Given the description of an element on the screen output the (x, y) to click on. 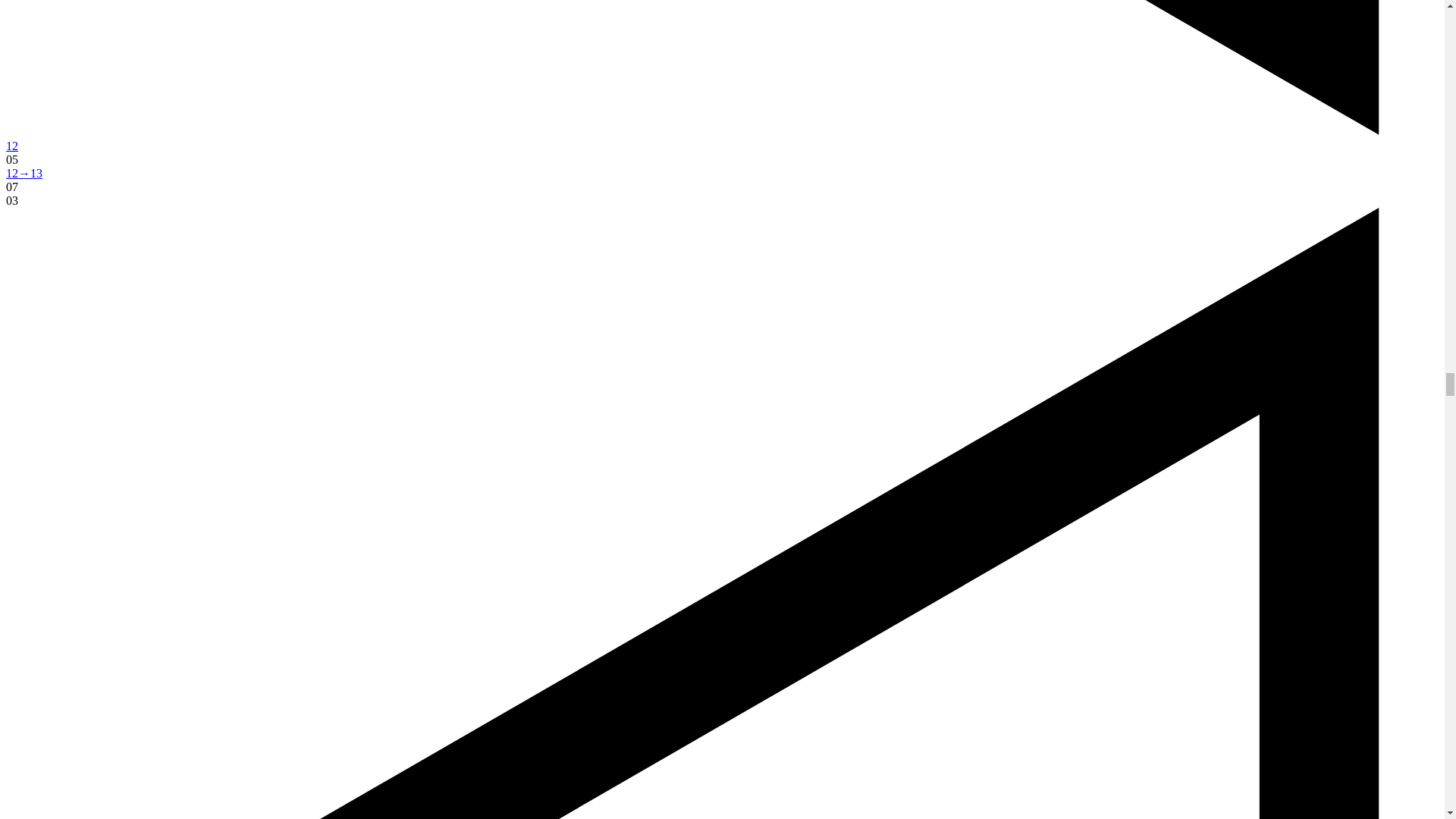
12 (11, 145)
